Given the description of an element on the screen output the (x, y) to click on. 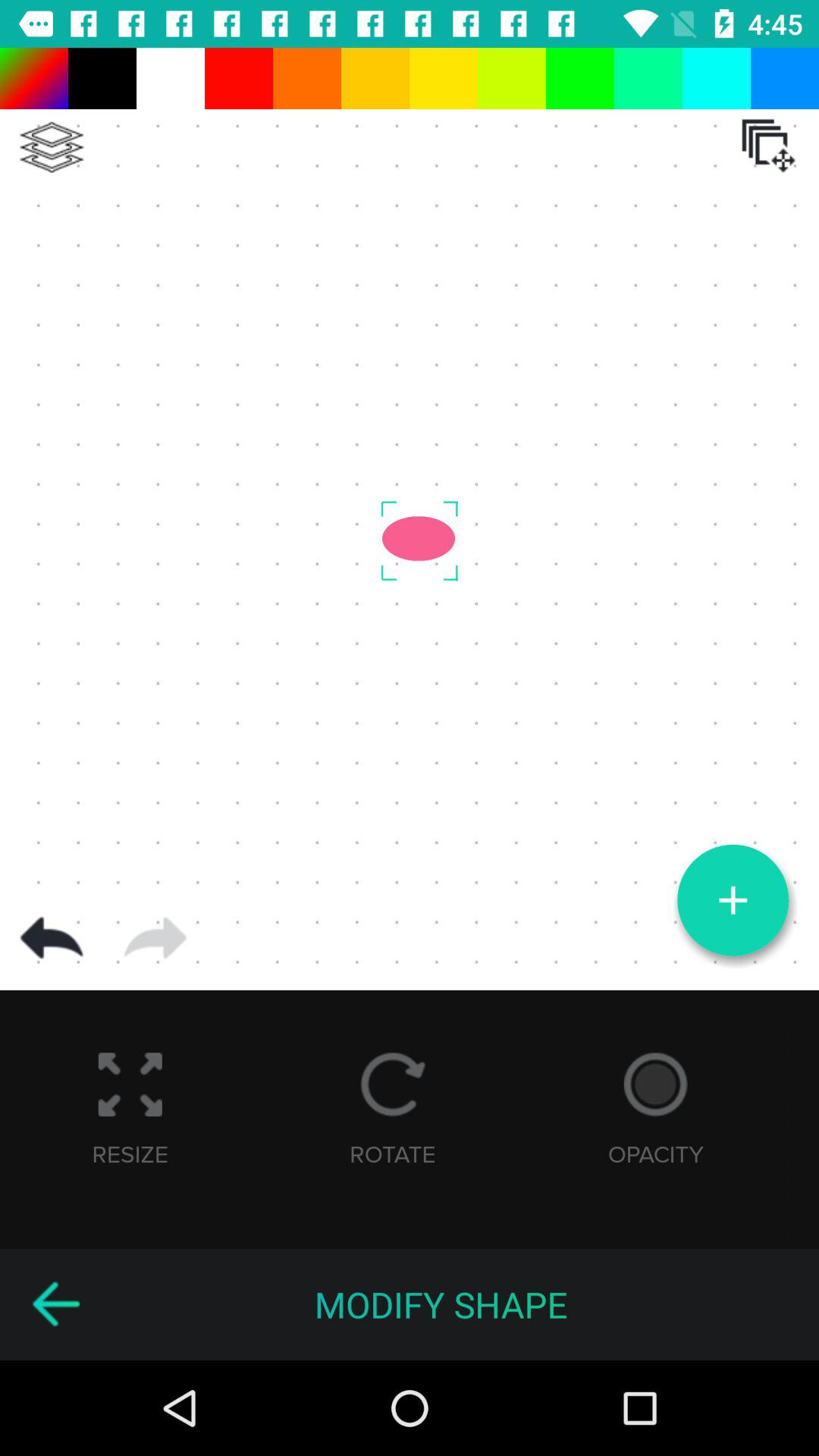
undo action (51, 938)
